Given the description of an element on the screen output the (x, y) to click on. 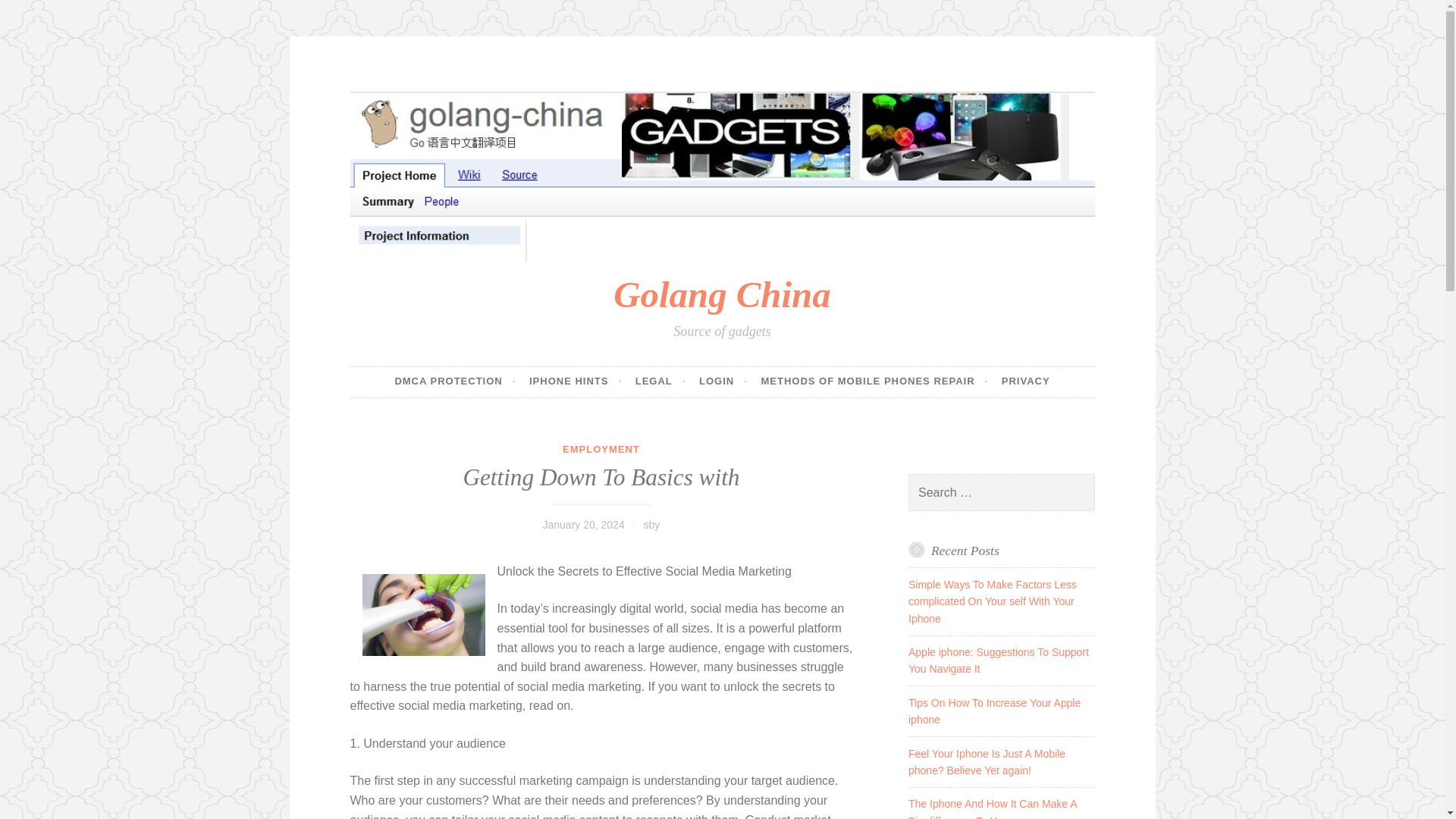
Apple iphone: Suggestions To Support You Navigate It (998, 660)
LEGAL (659, 381)
Golang China (720, 294)
DMCA PROTECTION (454, 381)
Feel Your Iphone Is Just A Mobile phone? Believe Yet again! (986, 761)
The Iphone And How It Can Make A Big difference To You (992, 808)
Tips On How To Increase Your Apple iphone (994, 710)
IPHONE HINTS (575, 381)
sby (652, 524)
LOGIN (723, 381)
METHODS OF MOBILE PHONES REPAIR (874, 381)
January 20, 2024 (582, 524)
Search (33, 13)
PRIVACY (1025, 381)
